Given the description of an element on the screen output the (x, y) to click on. 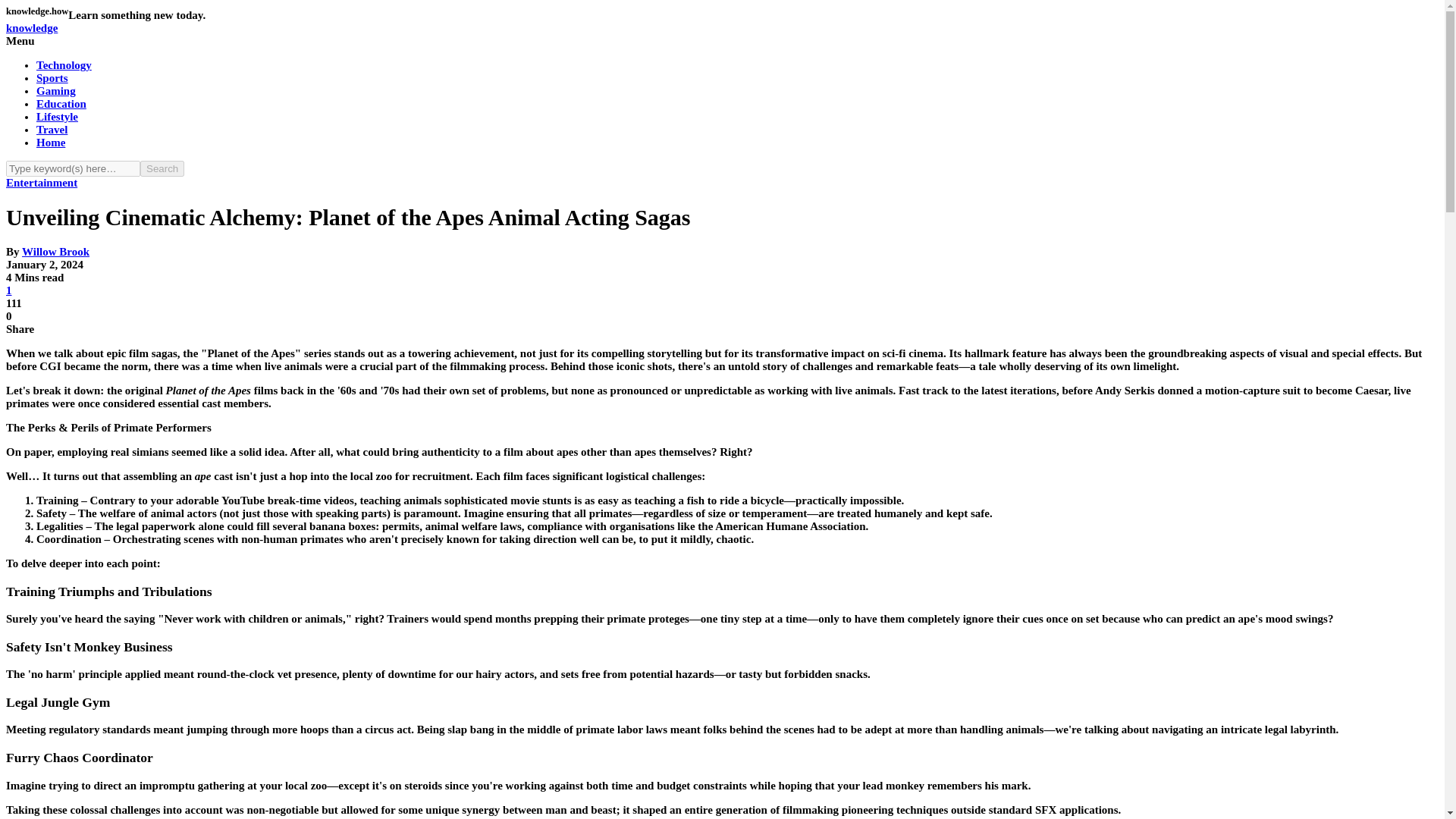
Posts by Willow Brook (54, 251)
Entertainment (41, 182)
Home (50, 142)
Education (60, 103)
knowledge (31, 28)
Lifestyle (57, 116)
Willow Brook (54, 251)
Travel (51, 129)
Sports (52, 78)
Technology (63, 64)
